Given the description of an element on the screen output the (x, y) to click on. 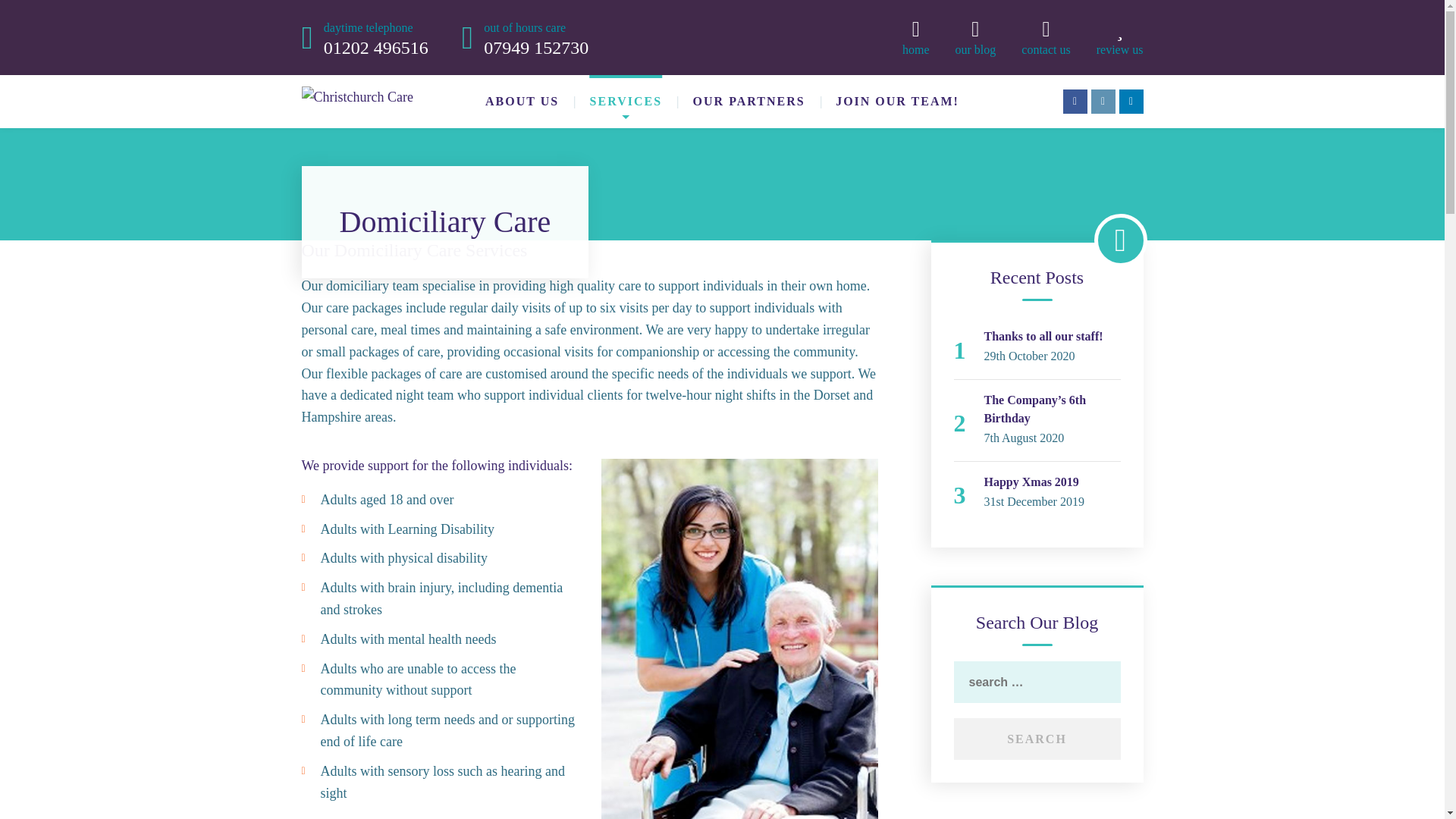
ABOUT US (521, 101)
Search (1037, 739)
Thanks to all our staff! (1052, 336)
contact us (1046, 37)
OUR PARTNERS (535, 37)
Happy Xmas 2019 (749, 101)
review us (375, 37)
our blog (1052, 482)
